Given the description of an element on the screen output the (x, y) to click on. 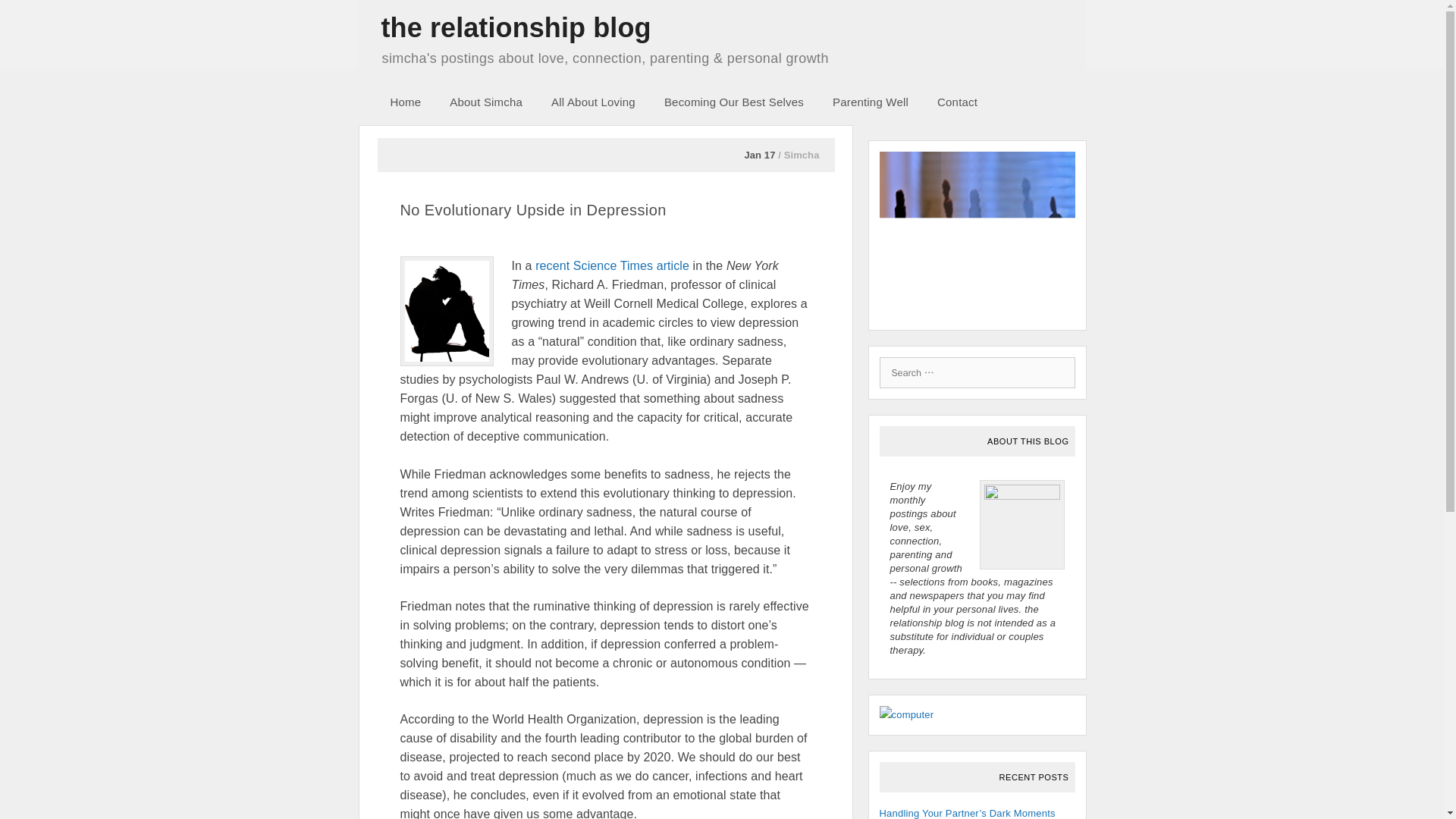
Home (410, 102)
Contact (962, 102)
Becoming Our Best Selves (739, 102)
All About Loving (598, 102)
About Simcha (491, 102)
recent Science Times article (614, 265)
Search for: (977, 373)
the relationship blog (515, 27)
Parenting Well (876, 102)
girlchair (446, 311)
the relationship blog (515, 27)
Search (30, 15)
